Given the description of an element on the screen output the (x, y) to click on. 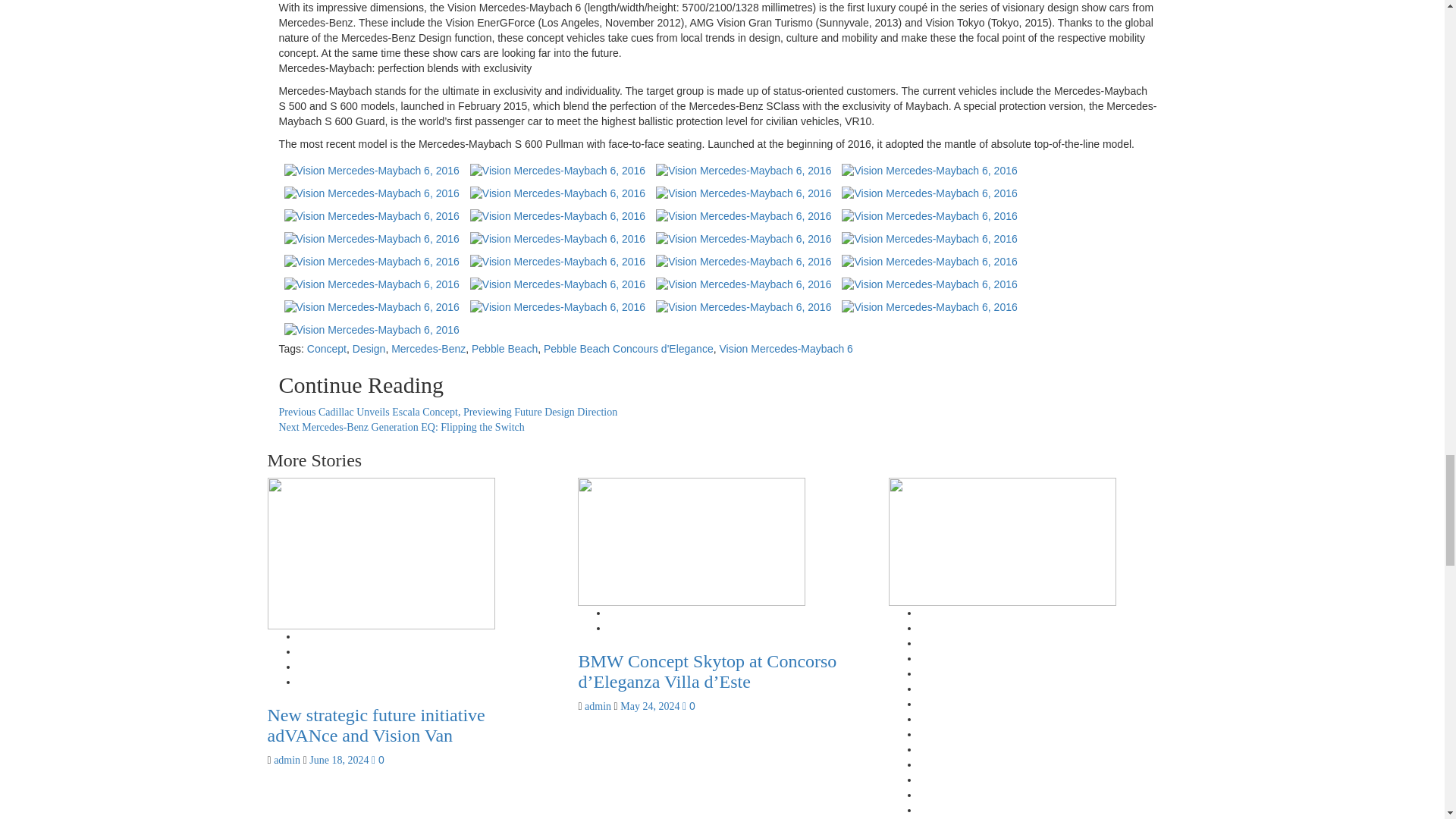
Vision Mercedes-Maybach 6, 2016 (371, 238)
Vision Mercedes-Maybach 6, 2016 (742, 193)
Vision Mercedes-Maybach 6, 2016 (371, 193)
Vision Mercedes-Maybach 6, 2016 (928, 193)
Vision Mercedes-Maybach 6, 2016 (557, 170)
Vision Mercedes-Maybach 6, 2016 (371, 215)
Vision Mercedes-Maybach 6, 2016 (928, 215)
Vision Mercedes-Maybach 6, 2016 (742, 215)
Vision Mercedes-Maybach 6, 2016 (928, 170)
Vision Mercedes-Maybach 6, 2016 (742, 170)
Vision Mercedes-Maybach 6, 2016 (557, 238)
Vision Mercedes-Maybach 6, 2016 (371, 170)
Vision Mercedes-Maybach 6, 2016 (557, 215)
Vision Mercedes-Maybach 6, 2016 (557, 193)
